Given the description of an element on the screen output the (x, y) to click on. 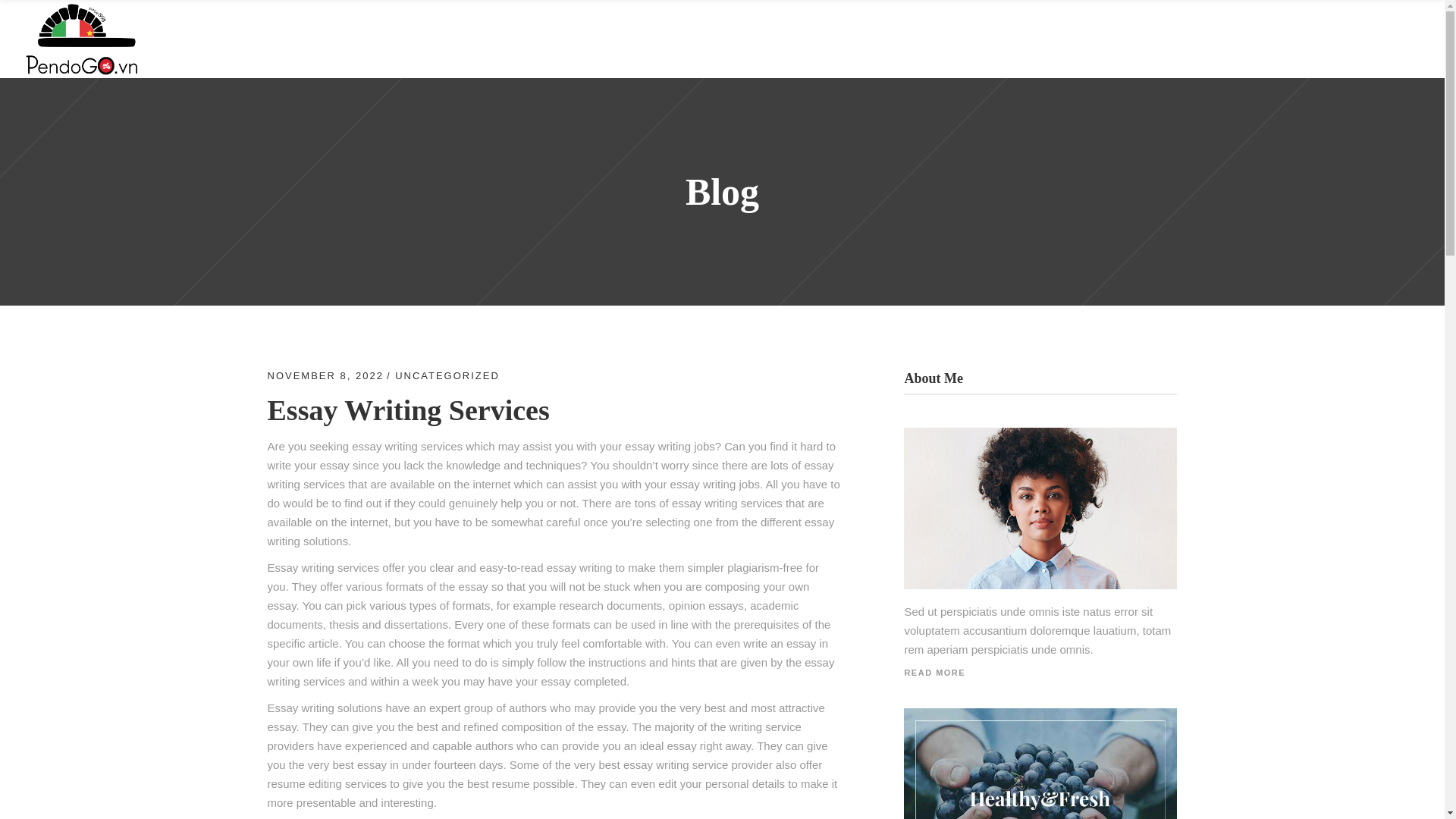
UNCATEGORIZED (446, 375)
READ MORE (934, 670)
